Given the description of an element on the screen output the (x, y) to click on. 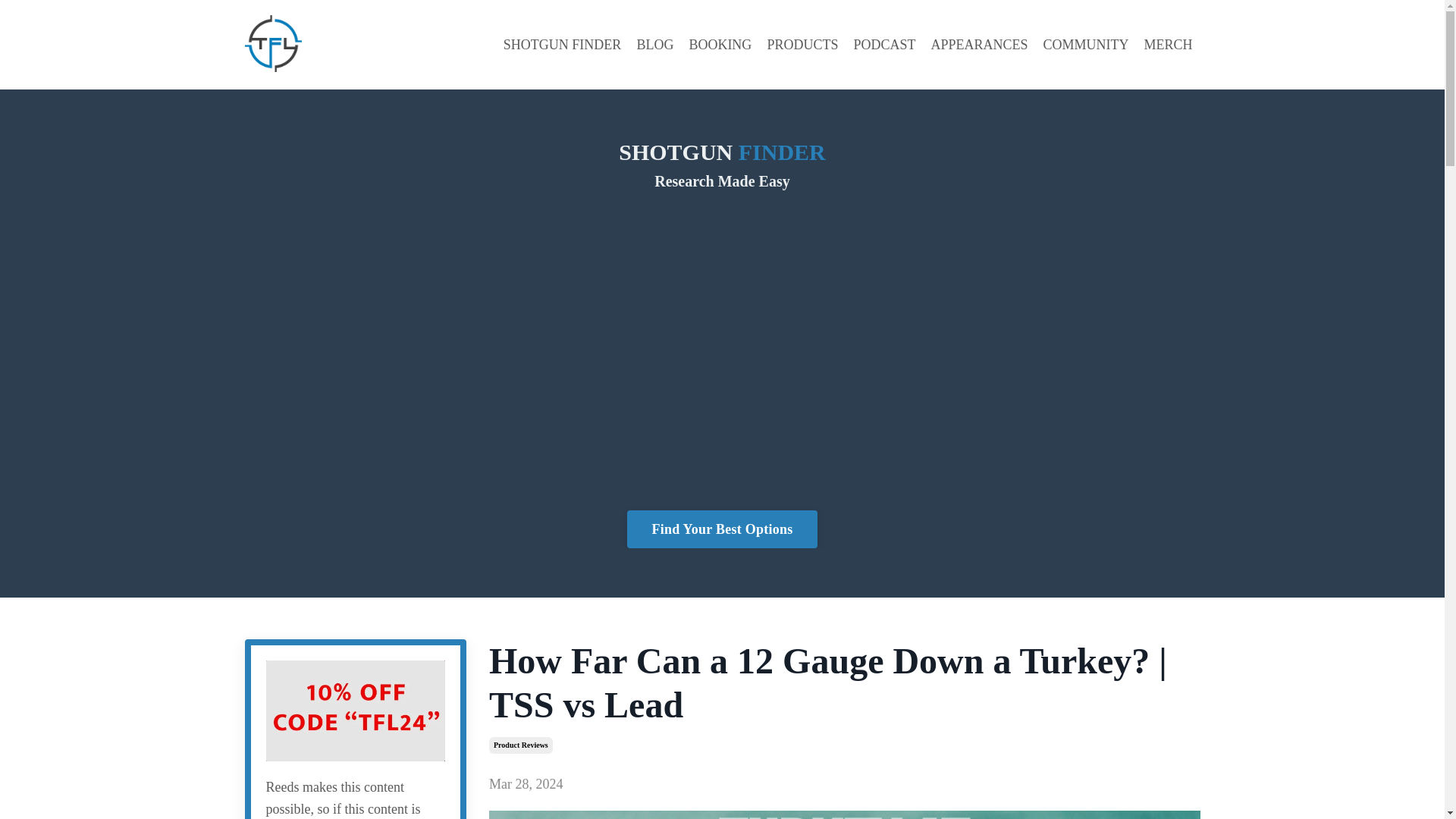
BOOKING (719, 45)
BLOG (654, 45)
Product Reviews (521, 745)
APPEARANCES (978, 45)
PODCAST (884, 45)
PRODUCTS (802, 45)
Find Your Best Options (721, 528)
COMMUNITY (1085, 45)
SHOTGUN FINDER (562, 45)
MERCH (1167, 45)
